Given the description of an element on the screen output the (x, y) to click on. 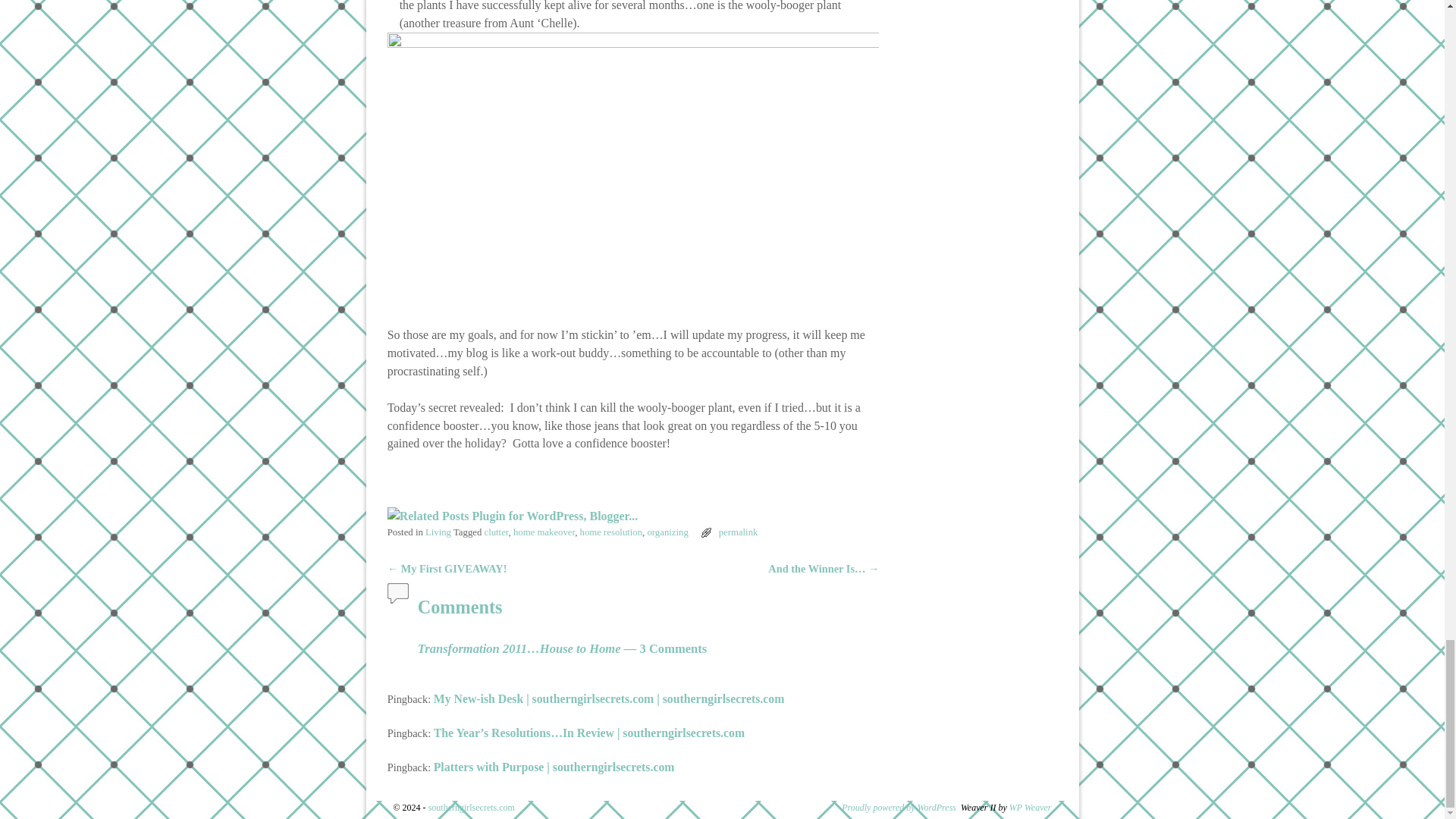
permalink (738, 532)
home resolution (611, 532)
organizing (666, 532)
Living (438, 532)
home makeover (544, 532)
clutter (495, 532)
